Given the description of an element on the screen output the (x, y) to click on. 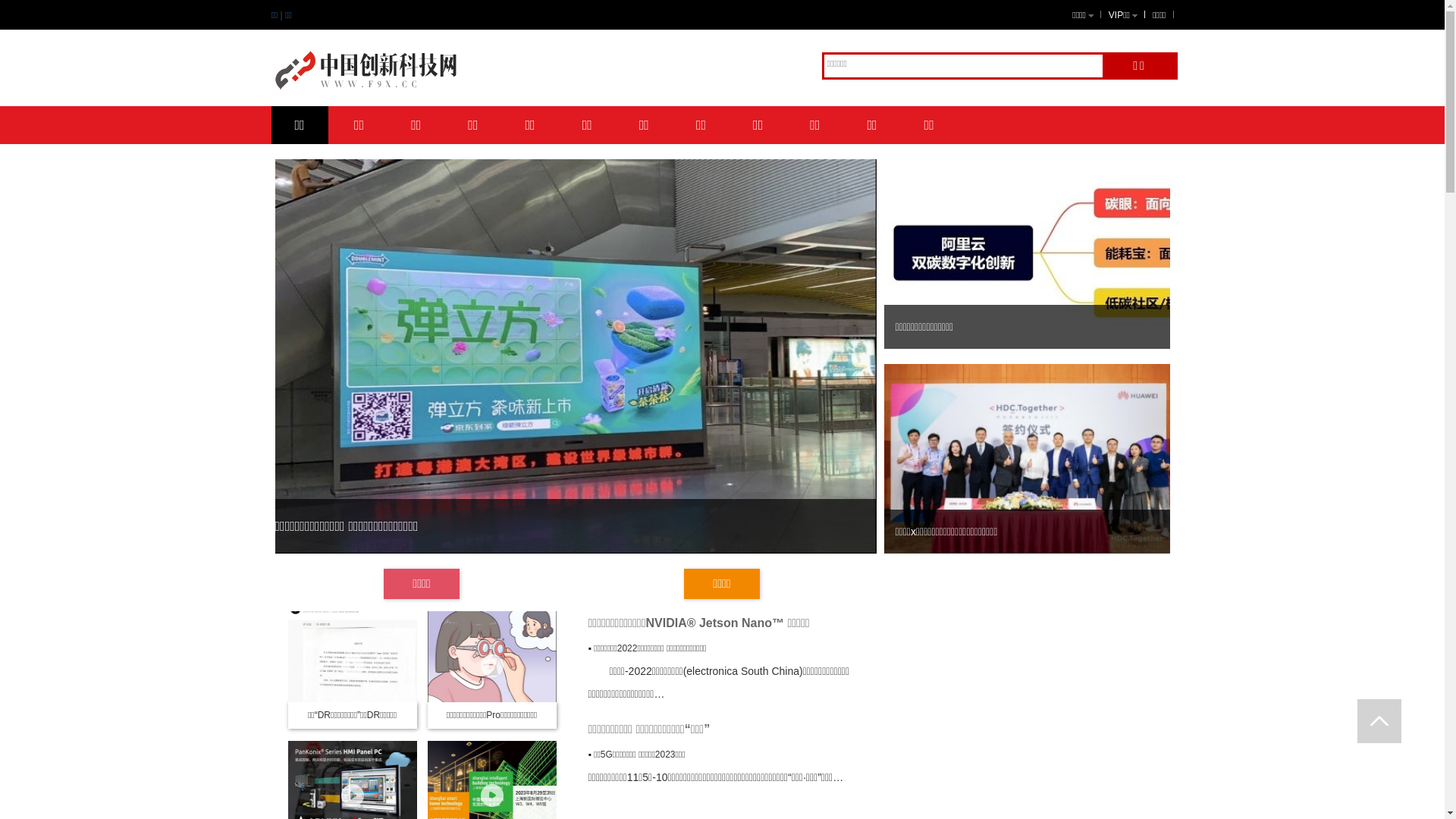
  Element type: text (1379, 721)
